Given the description of an element on the screen output the (x, y) to click on. 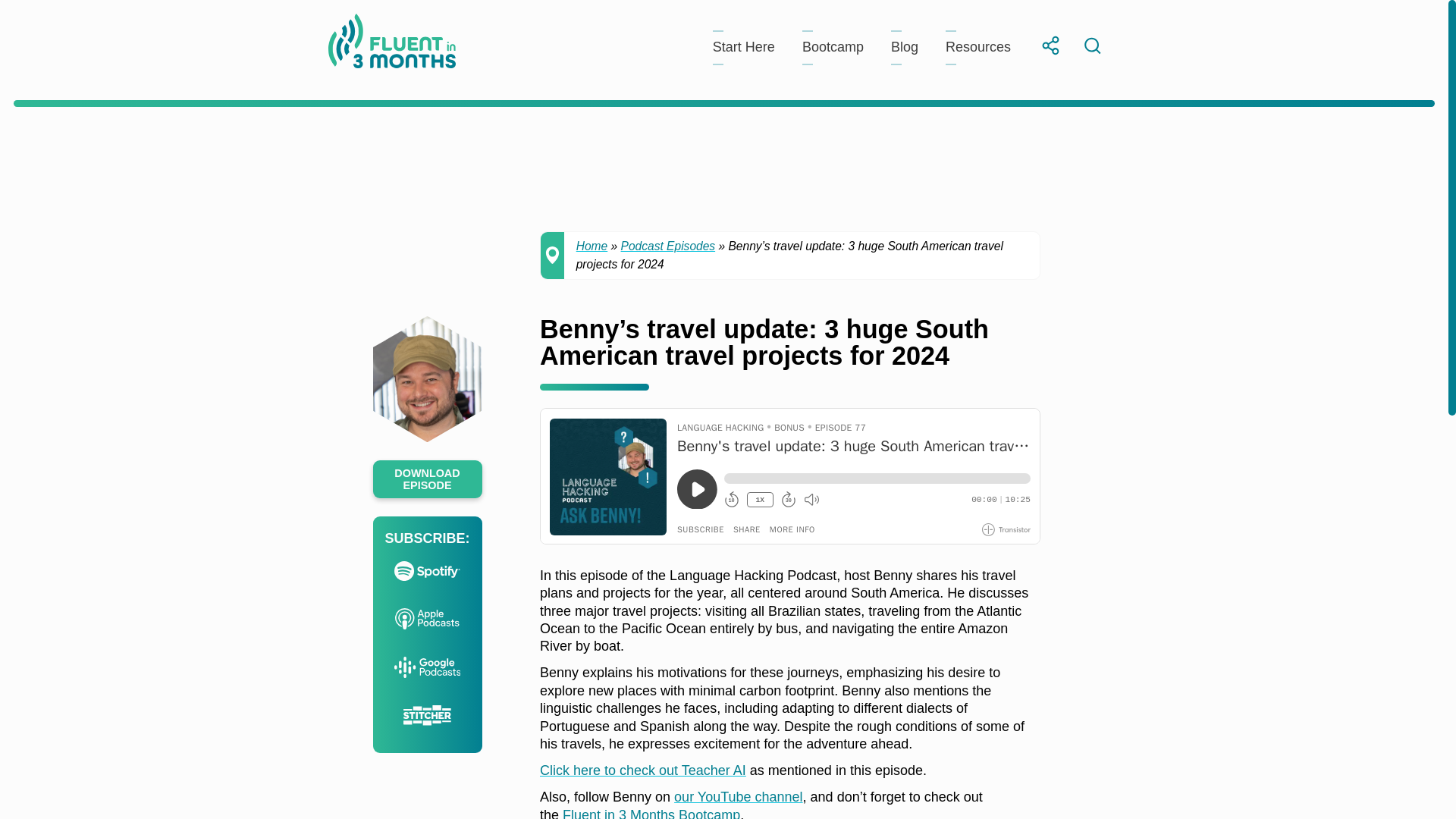
Bootcamp (832, 46)
Resources (977, 46)
Fluent in 3 months - Language Hacking and Travel Tips (392, 43)
Start Here (743, 46)
Blog (904, 46)
